Given the description of an element on the screen output the (x, y) to click on. 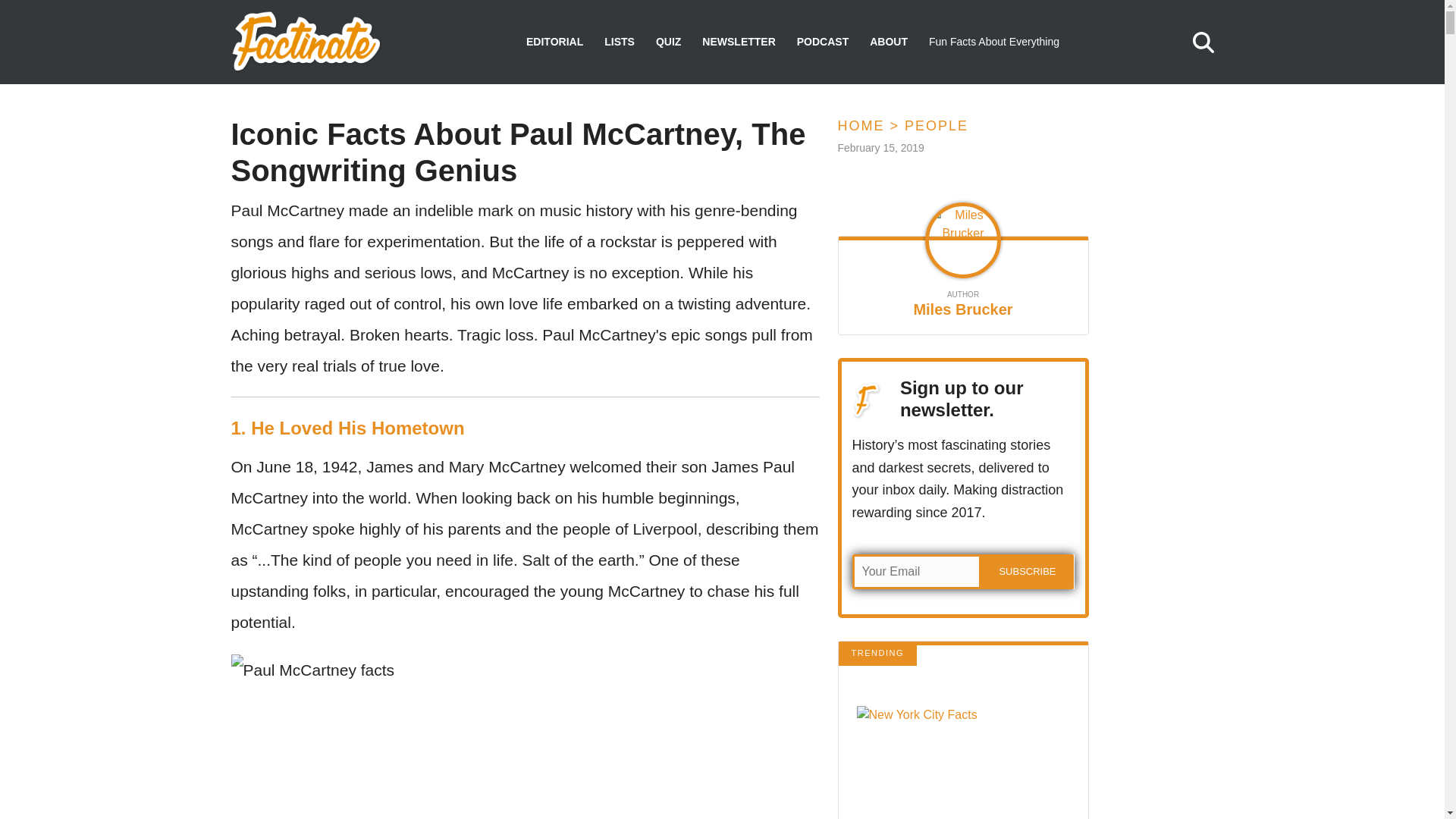
EDITORIAL (554, 41)
LISTS (619, 41)
NEWSLETTER (737, 41)
QUIZ (668, 41)
ABOUT (888, 41)
PODCAST (822, 41)
